Given the description of an element on the screen output the (x, y) to click on. 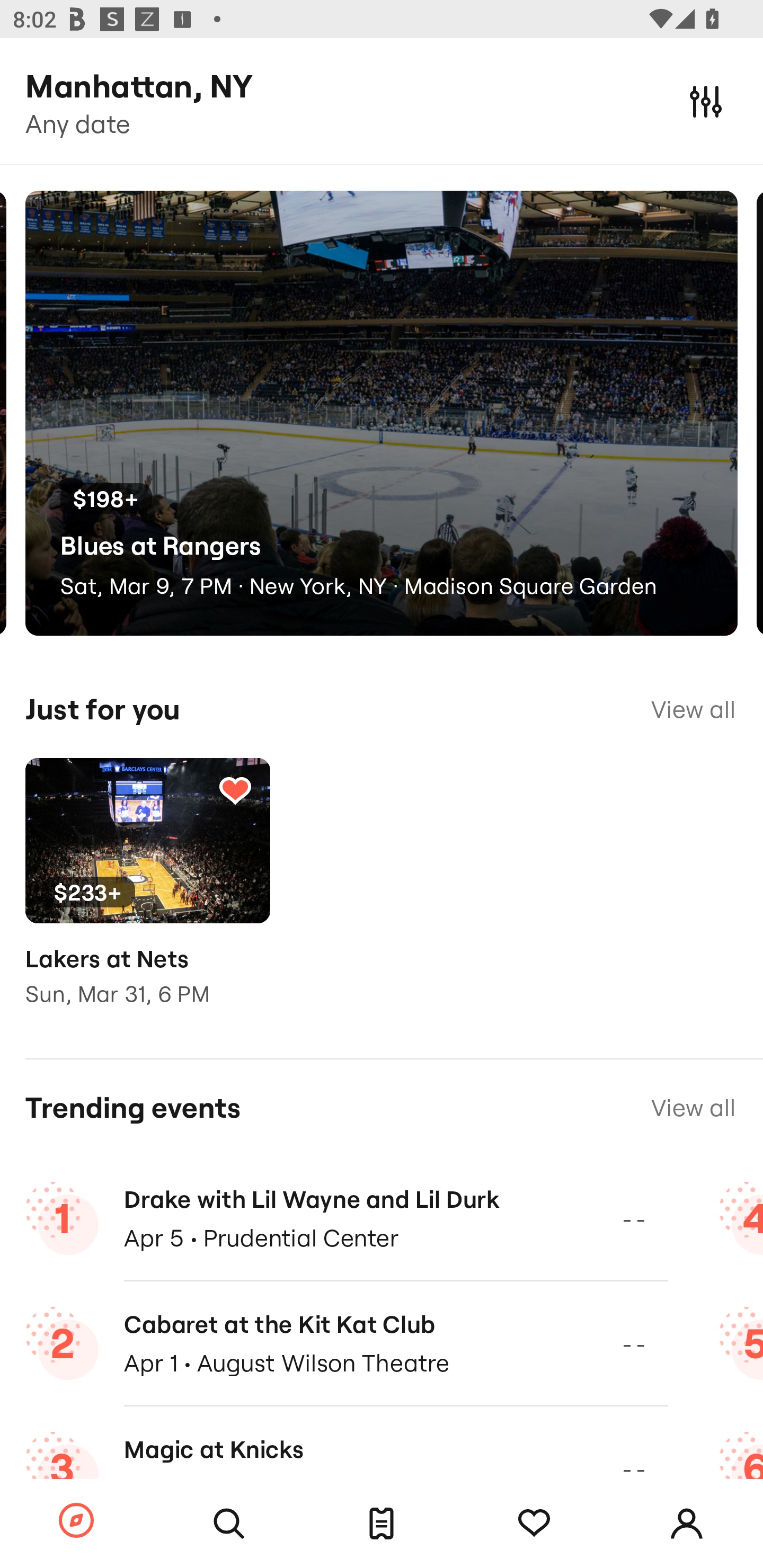
Filters (705, 100)
View all (693, 709)
Tracking $233+ Lakers at Nets Sun, Mar 31, 6 PM (147, 895)
Tracking (234, 790)
View all (693, 1108)
Browse (76, 1521)
Search (228, 1523)
Tickets (381, 1523)
Tracking (533, 1523)
Account (686, 1523)
